Given the description of an element on the screen output the (x, y) to click on. 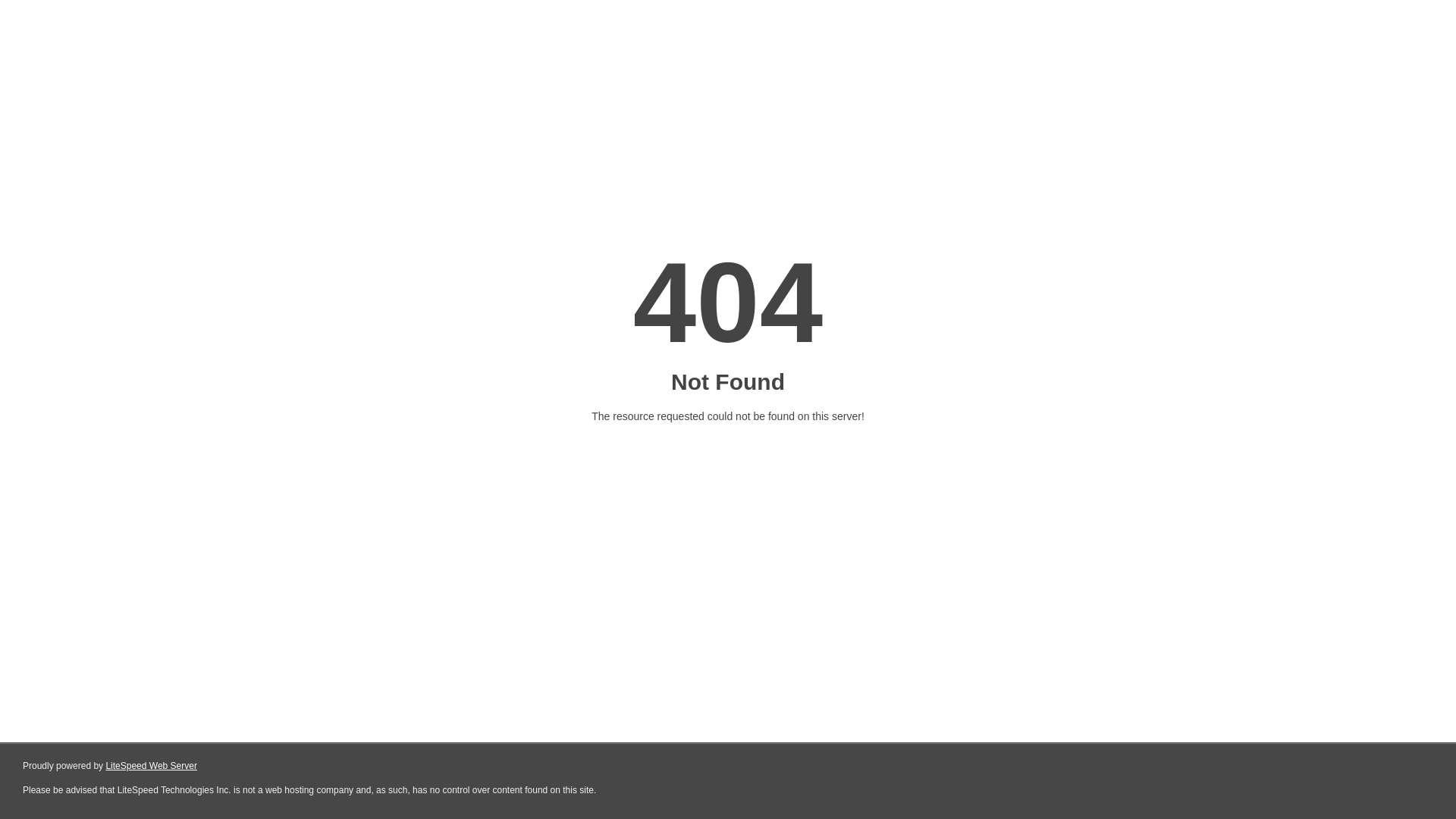
LiteSpeed Web Server Element type: text (151, 765)
